Given the description of an element on the screen output the (x, y) to click on. 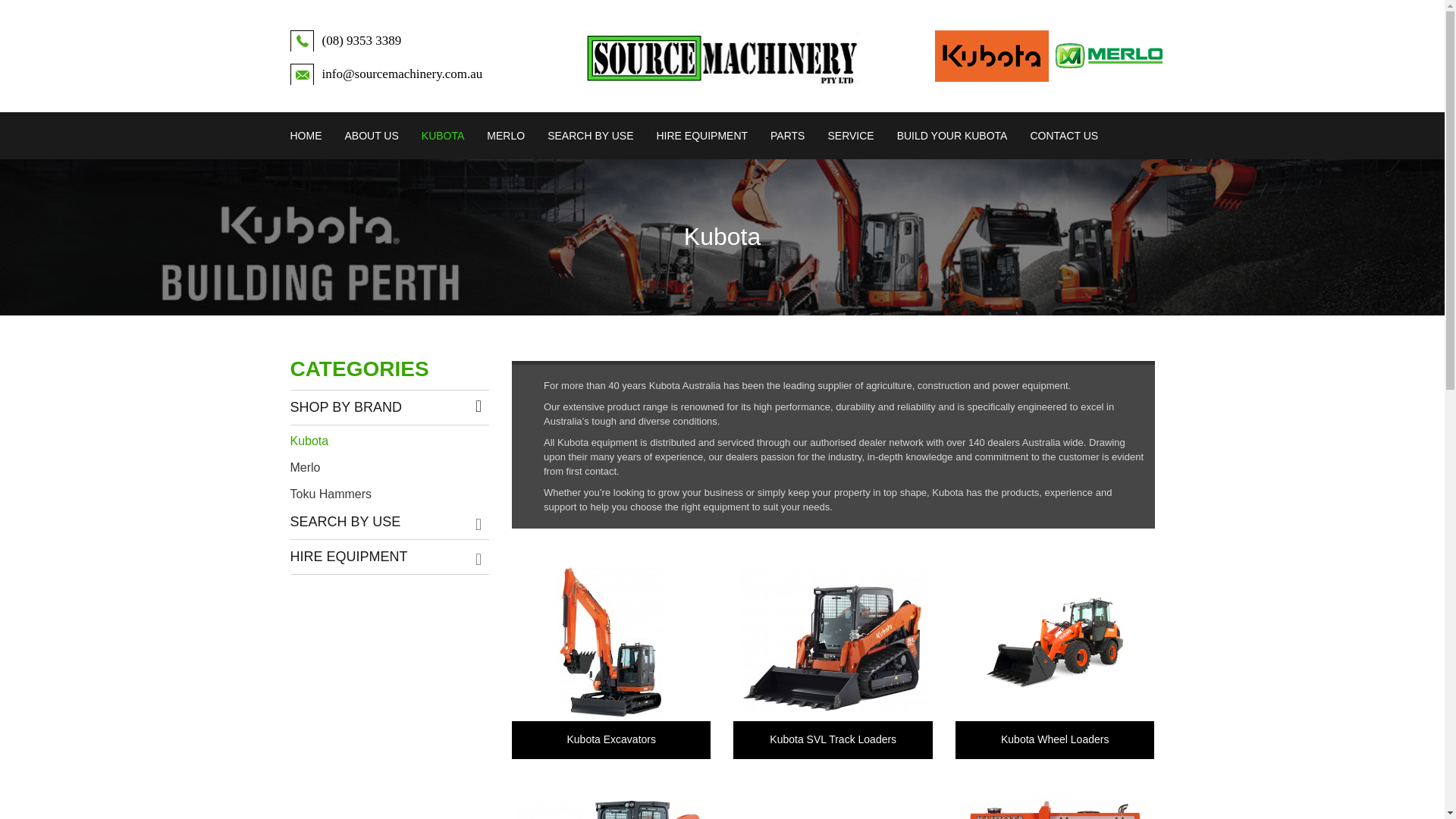
Home (311, 135)
MERLO (505, 135)
HOME (311, 135)
About Us (371, 135)
SEARCH BY USE (590, 135)
Merlo (505, 135)
KUBOTA (443, 135)
ABOUT US (371, 135)
HIRE EQUIPMENT (701, 135)
Search by Use (590, 135)
Kubota (443, 135)
Source Machinery (721, 57)
